Given the description of an element on the screen output the (x, y) to click on. 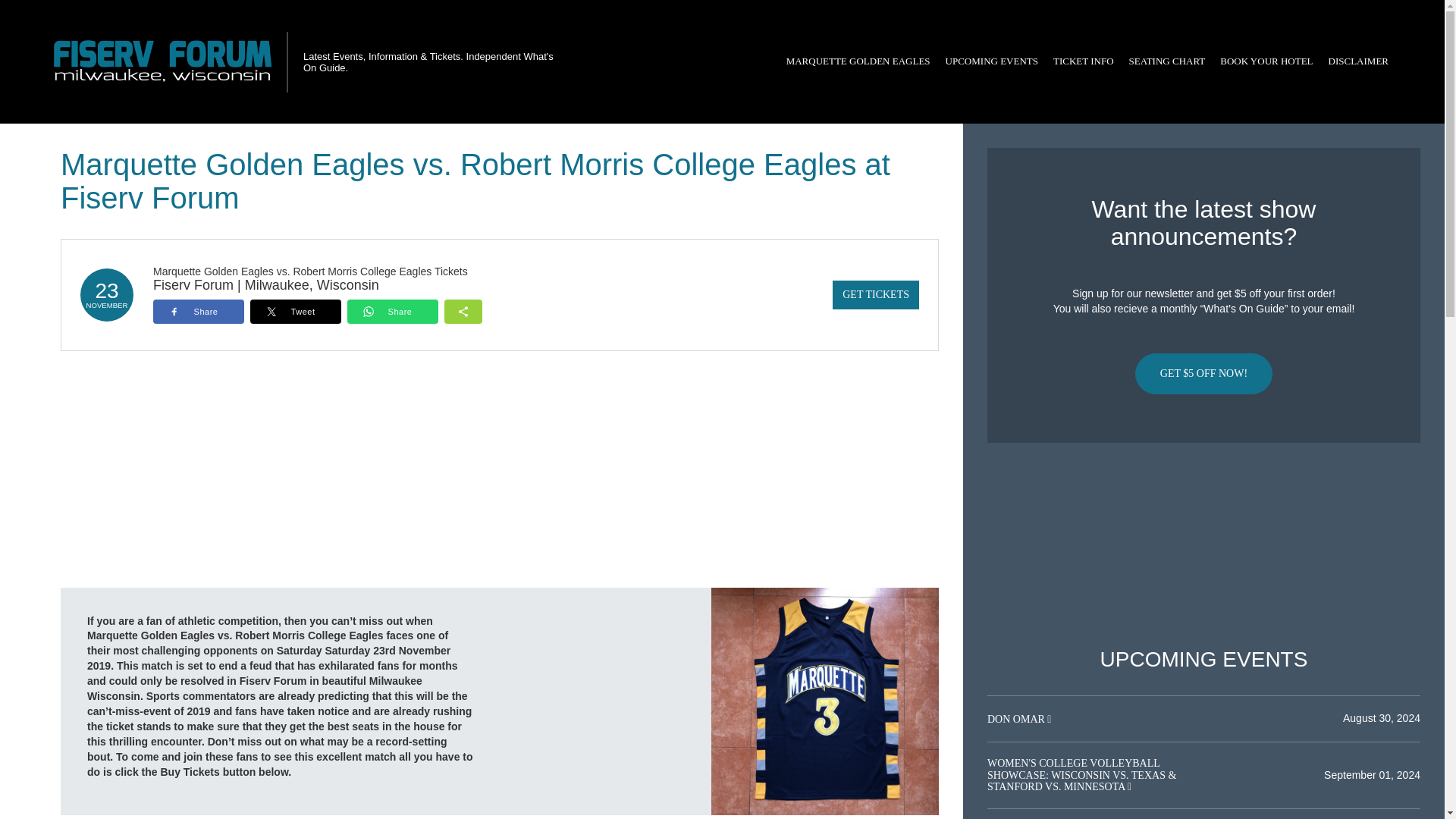
TICKET INFO (1083, 61)
GET TICKETS (875, 294)
MARQUETTE GOLDEN EAGLES (857, 61)
SEATING CHART (1166, 61)
BOOK YOUR HOTEL (1266, 61)
UPCOMING EVENTS (991, 61)
DISCLAIMER (1358, 61)
